Given the description of an element on the screen output the (x, y) to click on. 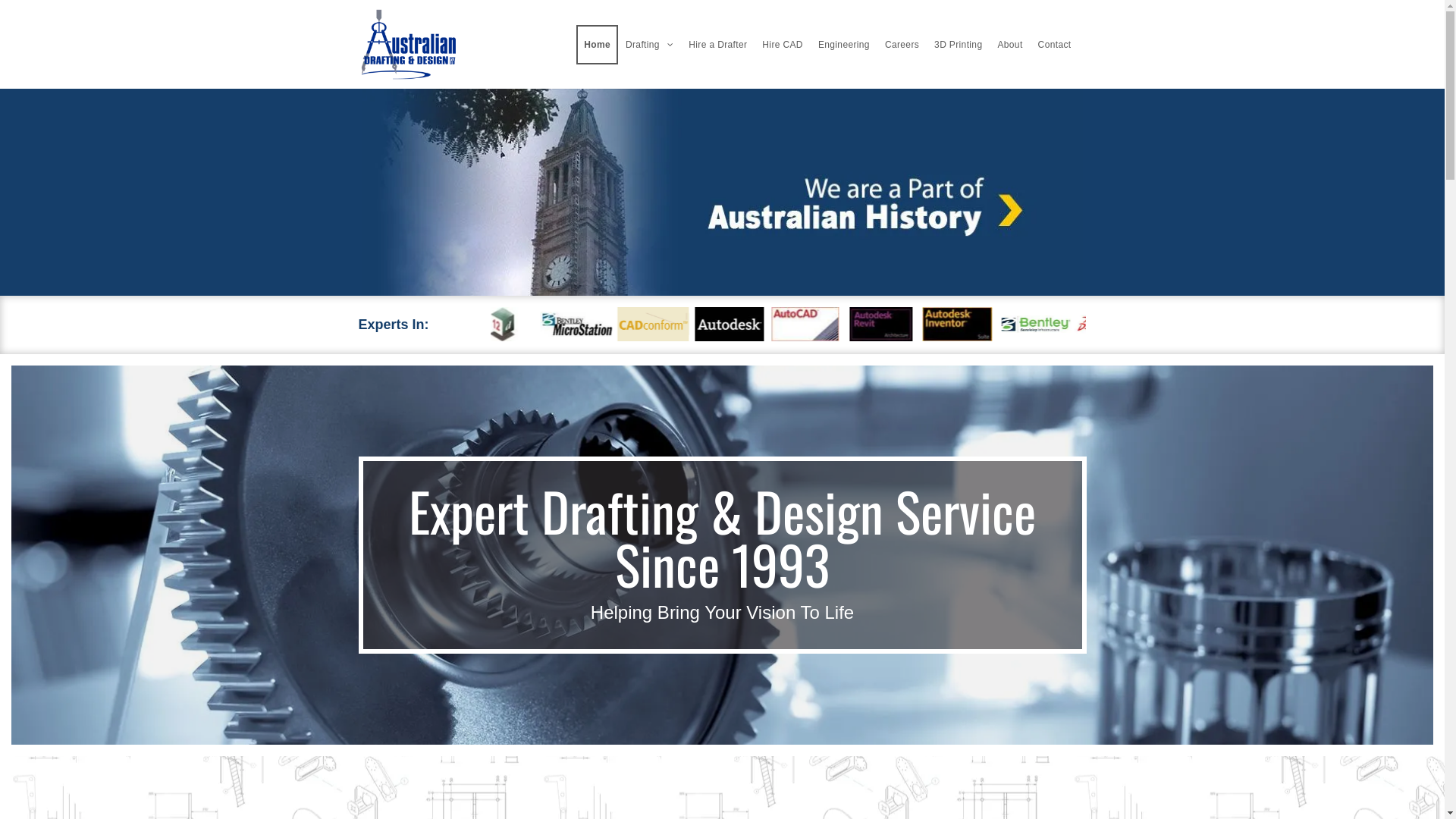
3D Printing Element type: text (957, 44)
Home Element type: text (597, 44)
Contact Element type: text (1054, 44)
Drafting Element type: text (649, 44)
About Element type: text (1009, 44)
Careers Element type: text (901, 44)
Engineering Element type: text (843, 44)
Hire CAD Element type: text (782, 44)
Hire a Drafter Element type: text (717, 44)
